Given the description of an element on the screen output the (x, y) to click on. 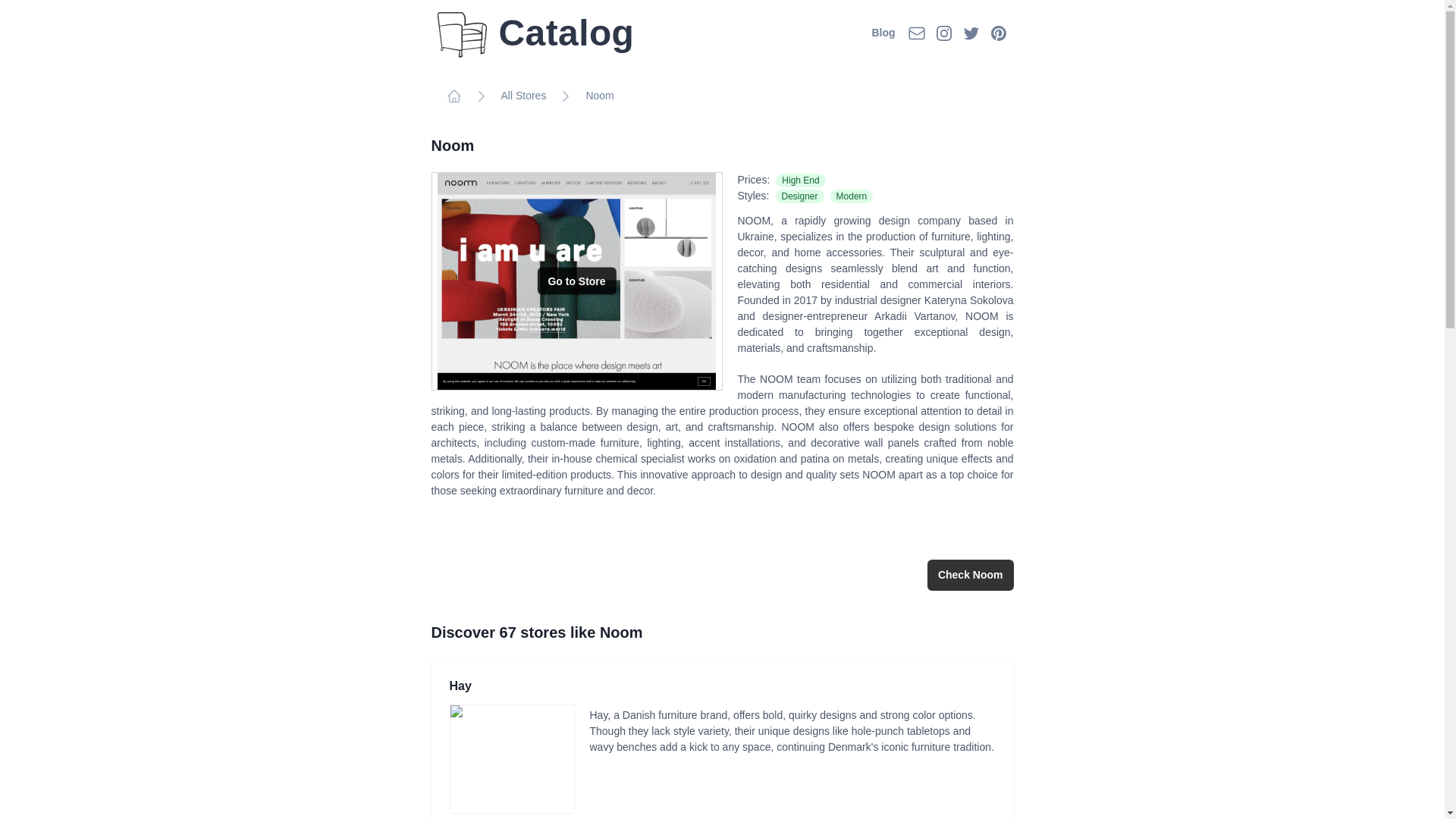
Email (915, 33)
Catalog (534, 32)
Designer (797, 195)
Instagram (943, 33)
Modern (848, 195)
Noom (598, 95)
Twitter (969, 33)
Go to Store (576, 280)
All Stores (523, 95)
Blog (882, 32)
High End (797, 179)
Check Noom (970, 574)
Home (453, 95)
Pinterest (997, 33)
Hay (459, 687)
